Given the description of an element on the screen output the (x, y) to click on. 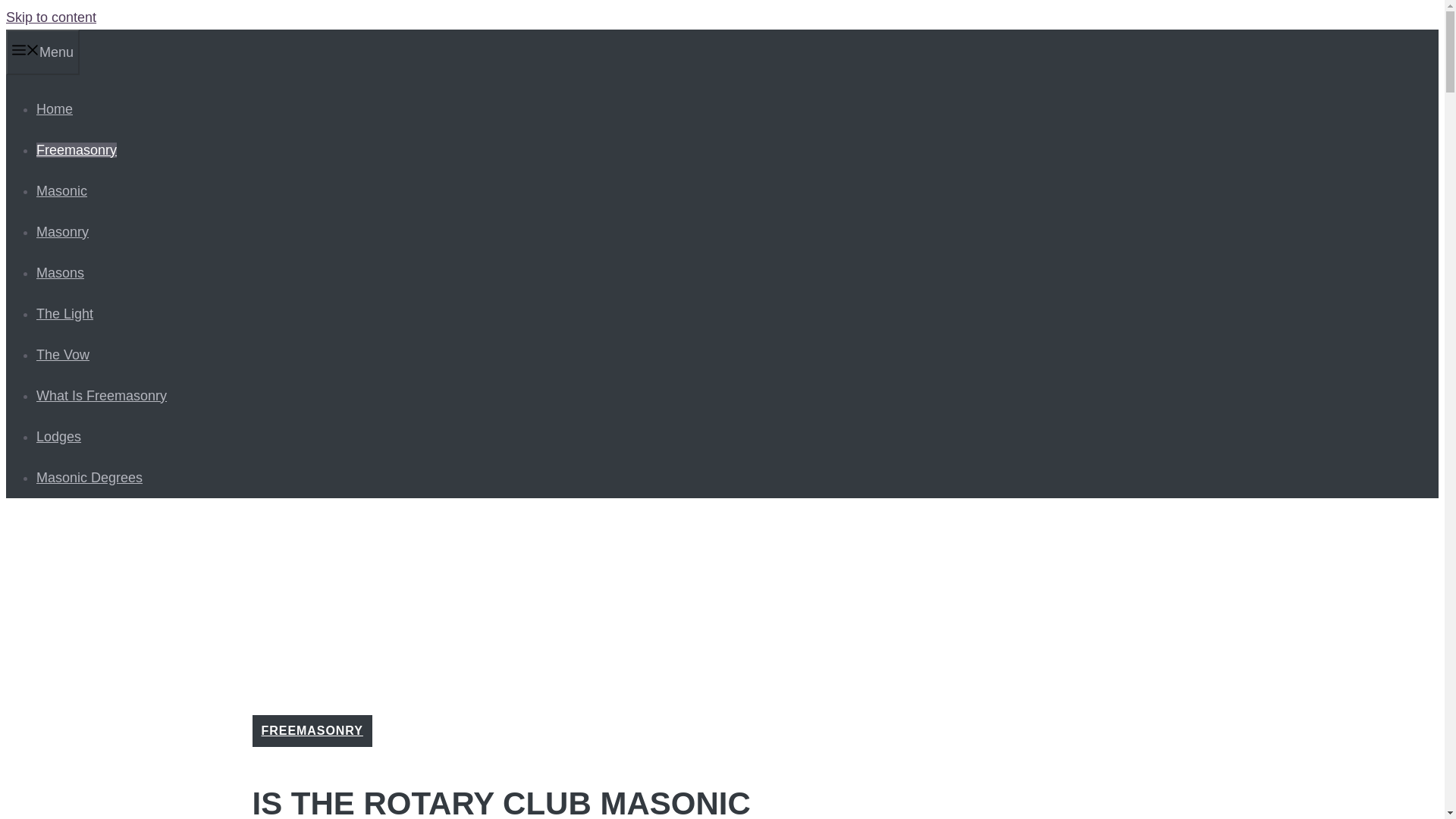
Lodges (58, 436)
The Vow (62, 354)
The Light (64, 313)
What Is Freemasonry (101, 395)
Home (54, 109)
FREEMASONRY (311, 730)
Freemasonry (76, 150)
Masonic Degrees (89, 477)
Masonry (62, 231)
Skip to content (50, 17)
